Given the description of an element on the screen output the (x, y) to click on. 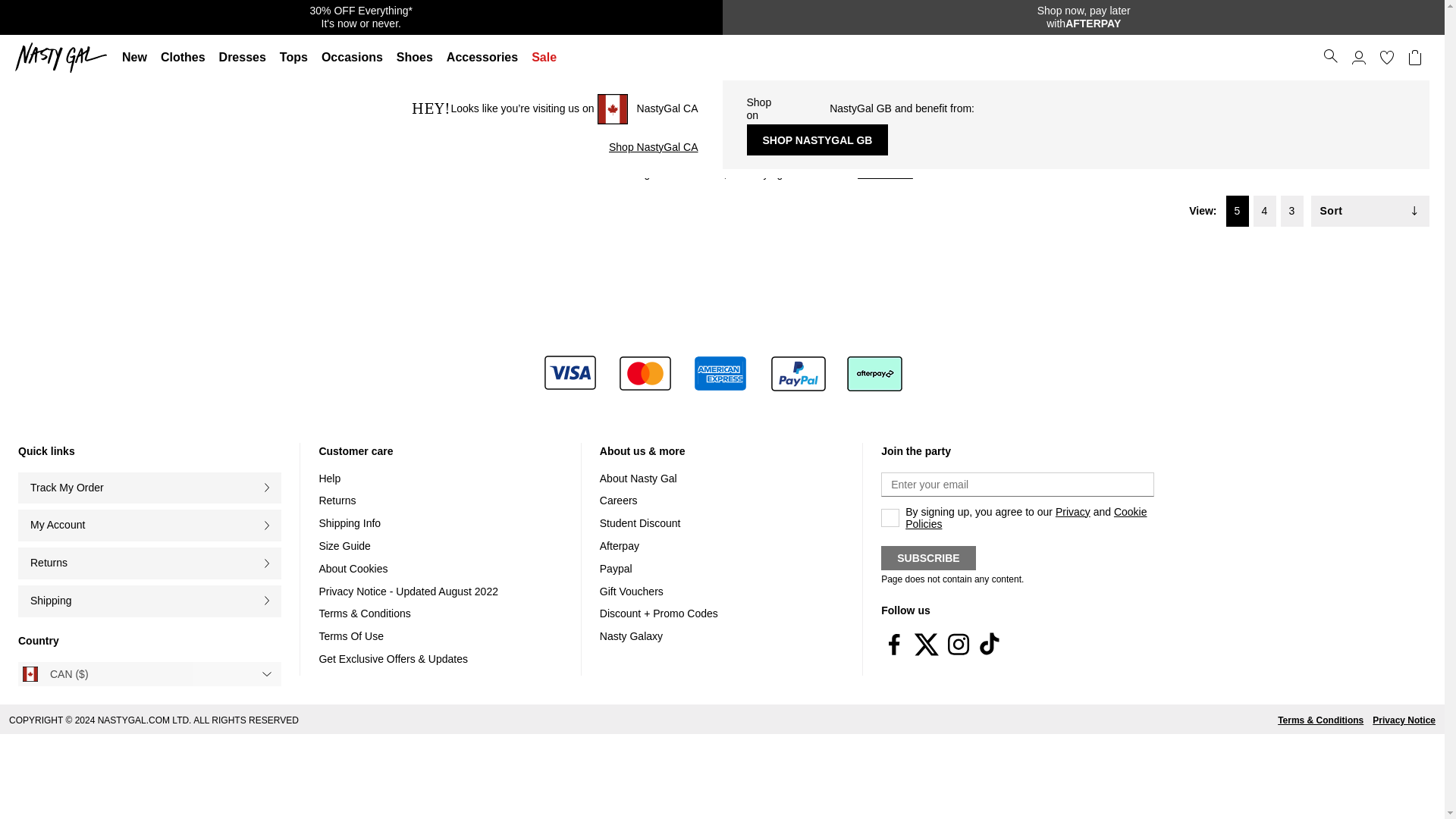
Clothes (183, 57)
Wish List (1386, 57)
Nasty Gal (1082, 17)
Search (64, 57)
